Given the description of an element on the screen output the (x, y) to click on. 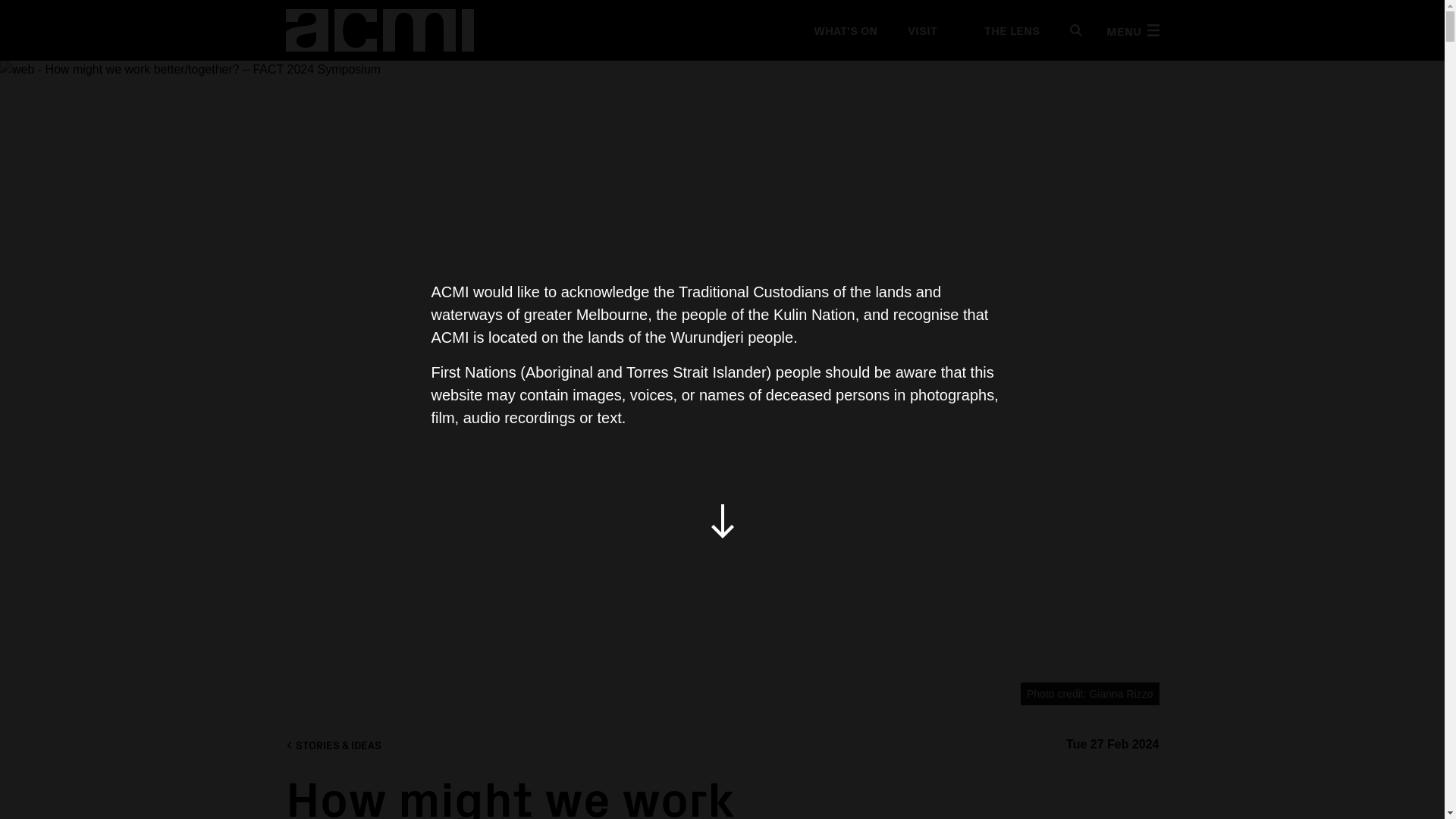
MENU (1131, 29)
VISIT (921, 30)
WHAT'S ON (844, 30)
THE LENS (1003, 30)
